Given the description of an element on the screen output the (x, y) to click on. 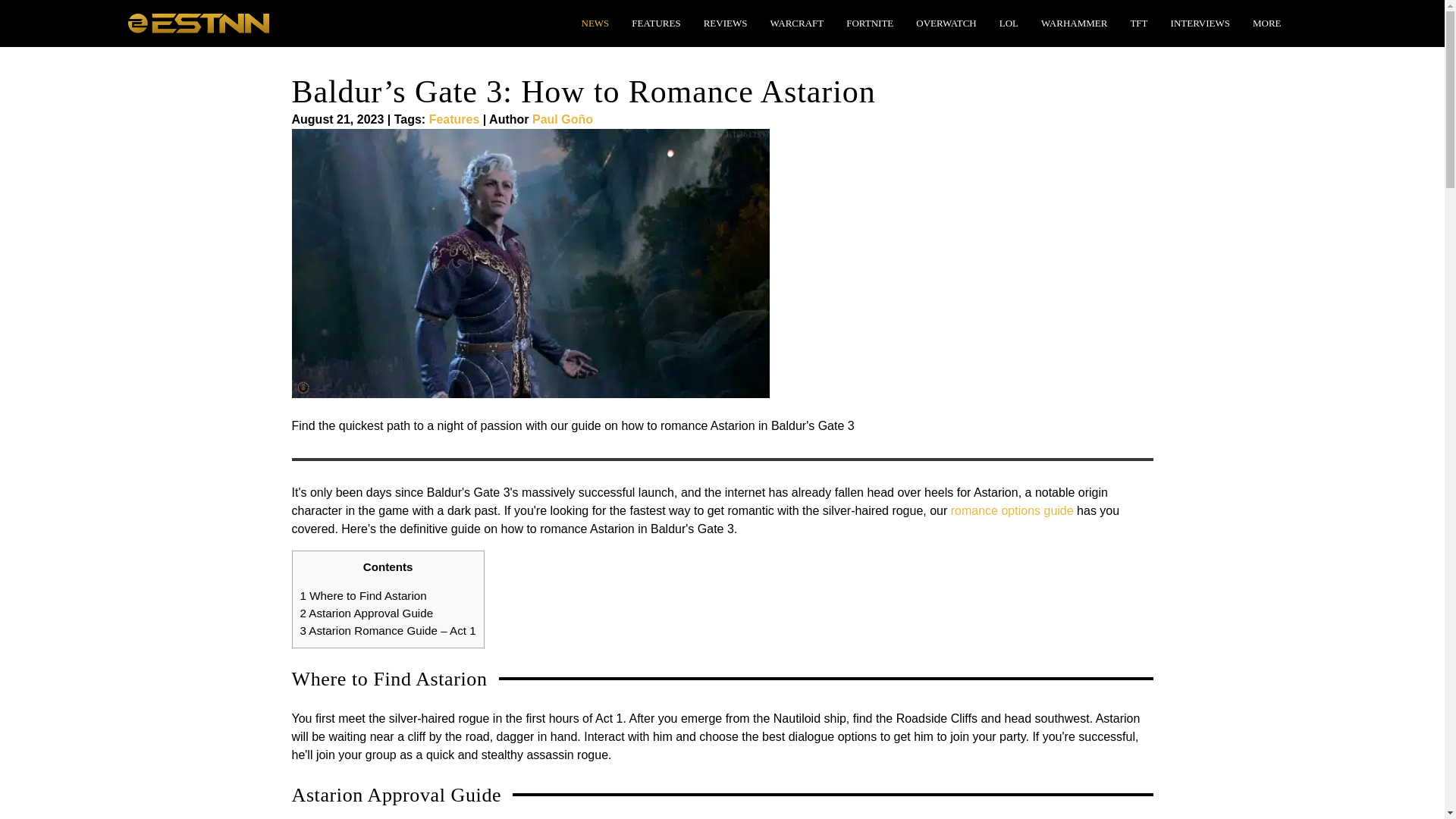
Features (454, 119)
NEWS (594, 23)
TFT (1138, 23)
REVIEWS (725, 23)
WARCRAFT (796, 23)
FEATURES (655, 23)
2 Astarion Approval Guide (366, 612)
WARHAMMER (1074, 23)
romance options guide (1012, 510)
1 Where to Find Astarion (362, 594)
